Given the description of an element on the screen output the (x, y) to click on. 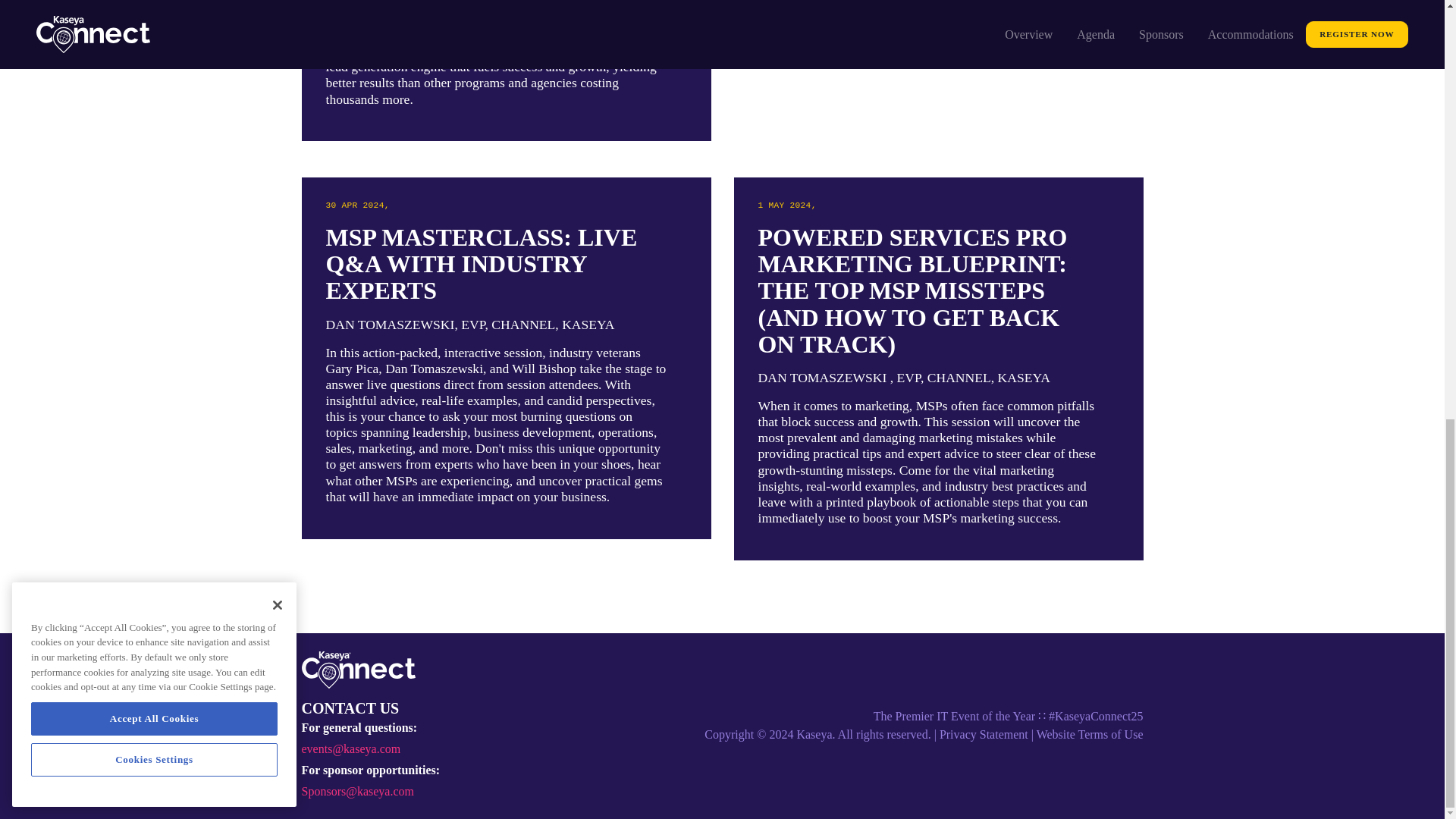
Privacy Statement (983, 734)
Website Terms of Use (1089, 734)
